Given the description of an element on the screen output the (x, y) to click on. 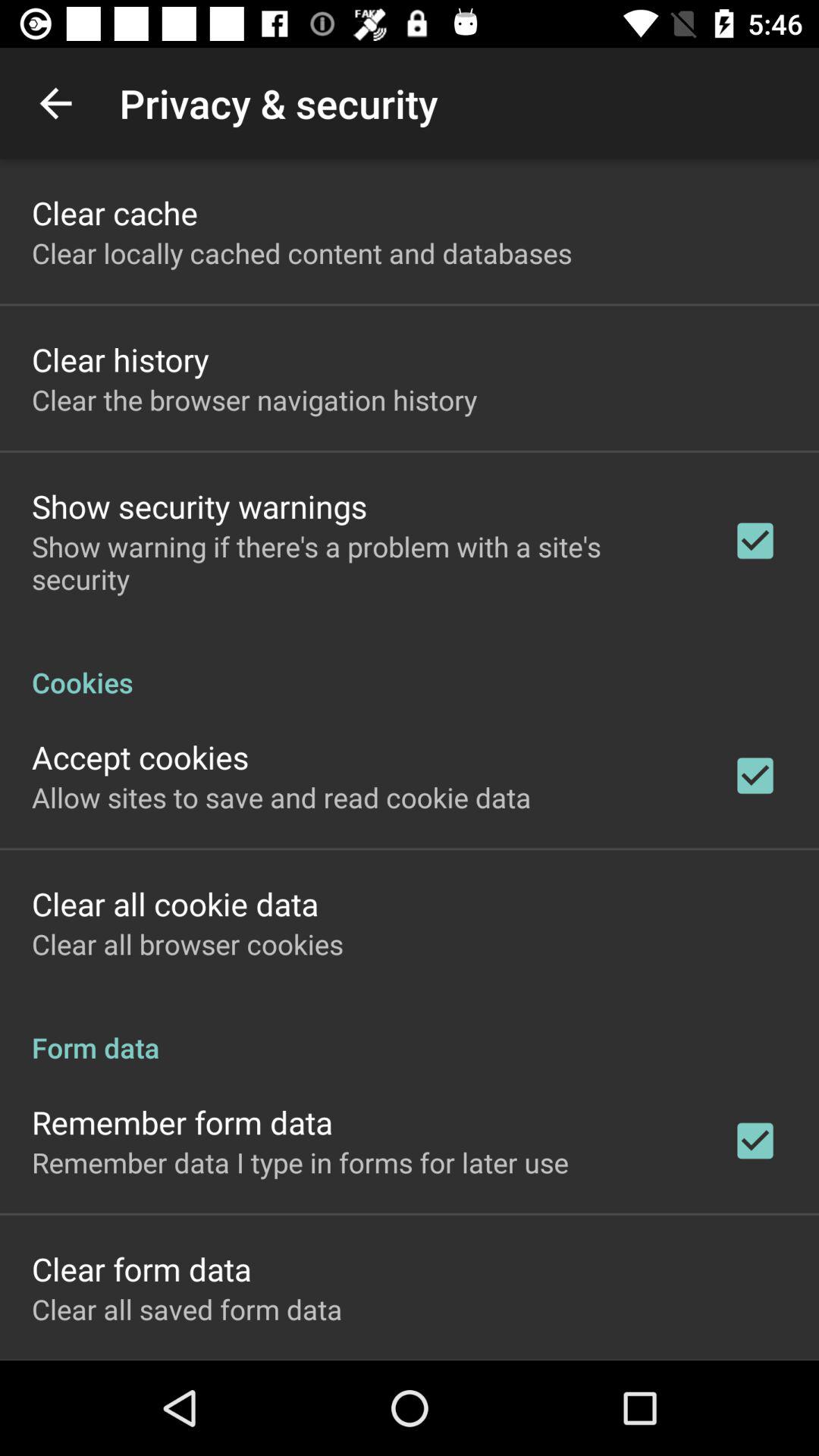
select the check box icon for accept cookies (755, 776)
select the button which is right to the remember form data (755, 1141)
